Given the description of an element on the screen output the (x, y) to click on. 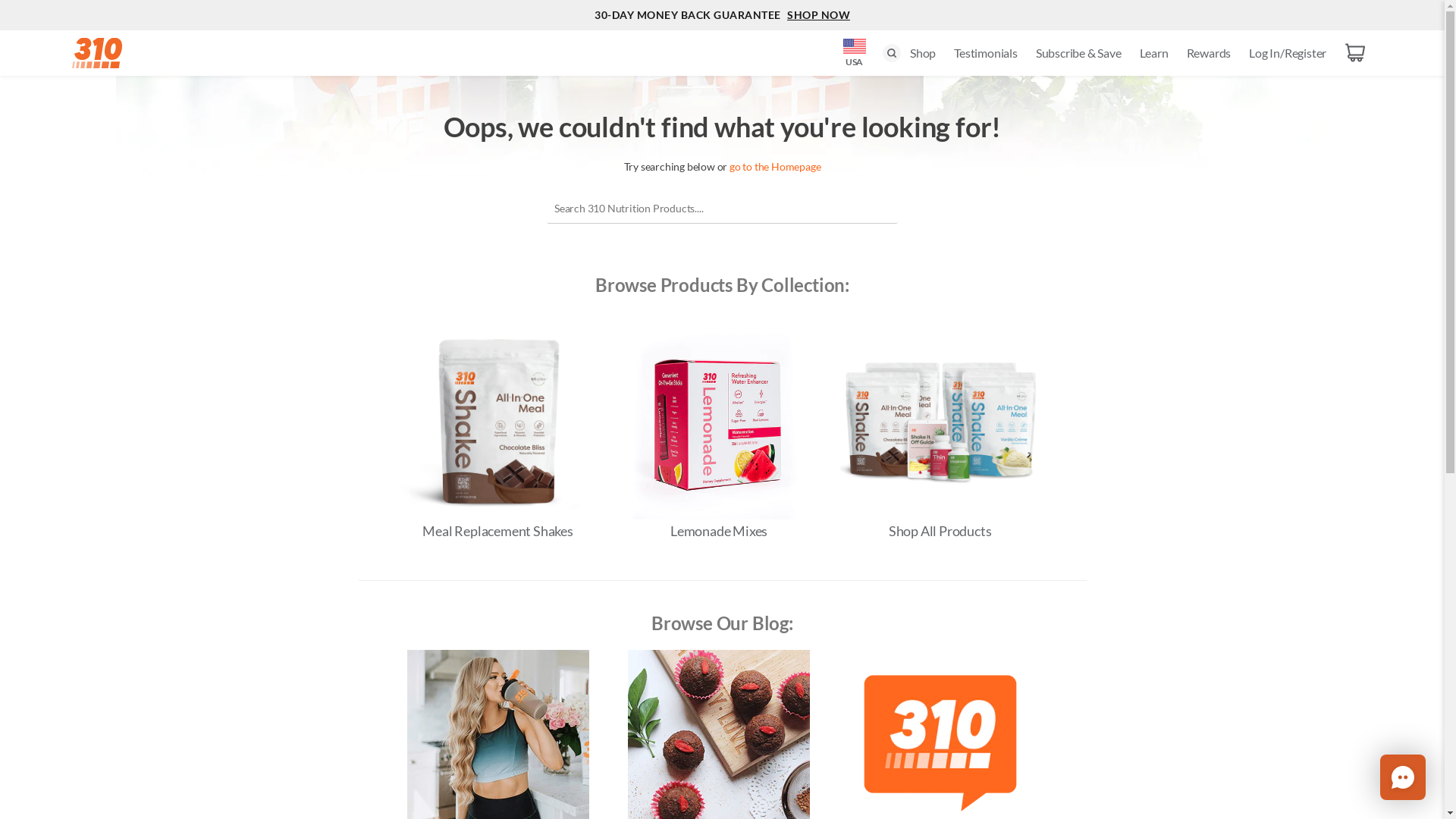
310 Nutrition Element type: text (97, 52)
Subscribe & Save Element type: text (1078, 52)
go to the Homepage Element type: text (774, 166)
Shop All Products Element type: text (940, 530)
Search Element type: hover (891, 52)
30-DAY MONEY BACK GUARANTEE SHOP NOW Element type: text (722, 15)
Shop Element type: text (922, 52)
Lemonade Mixes Element type: text (718, 530)
Learn Element type: text (1153, 52)
Rewards Element type: text (1208, 52)
USA Element type: text (854, 48)
Testimonials Element type: text (985, 52)
Log In/Register Element type: text (1287, 52)
Cart1 Element type: hover (1355, 52)
Meal Replacement Shakes Element type: text (498, 530)
